Given the description of an element on the screen output the (x, y) to click on. 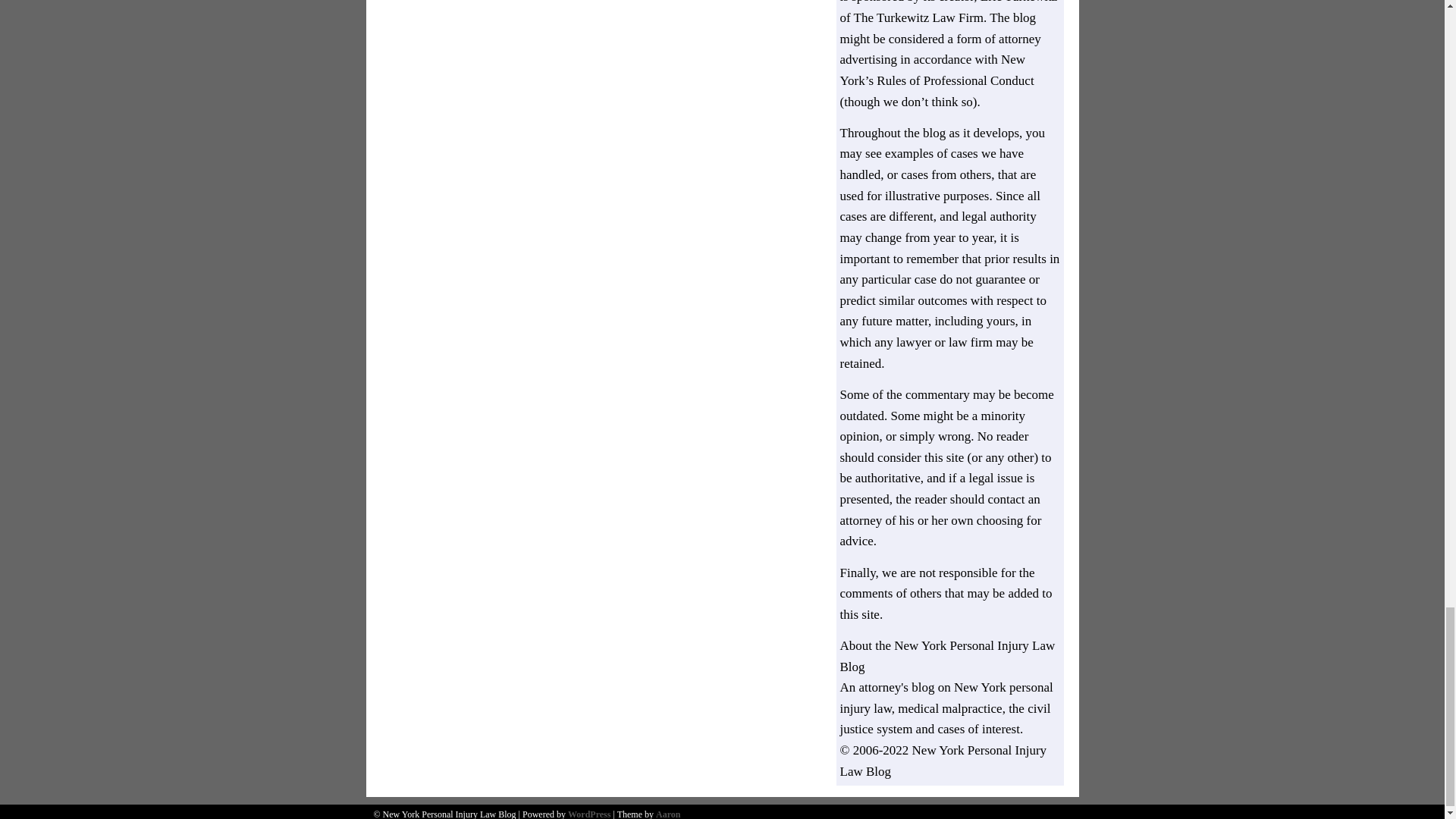
Semantic Personal Publishing Platform (588, 814)
Freelance Theme Developer (667, 814)
